Given the description of an element on the screen output the (x, y) to click on. 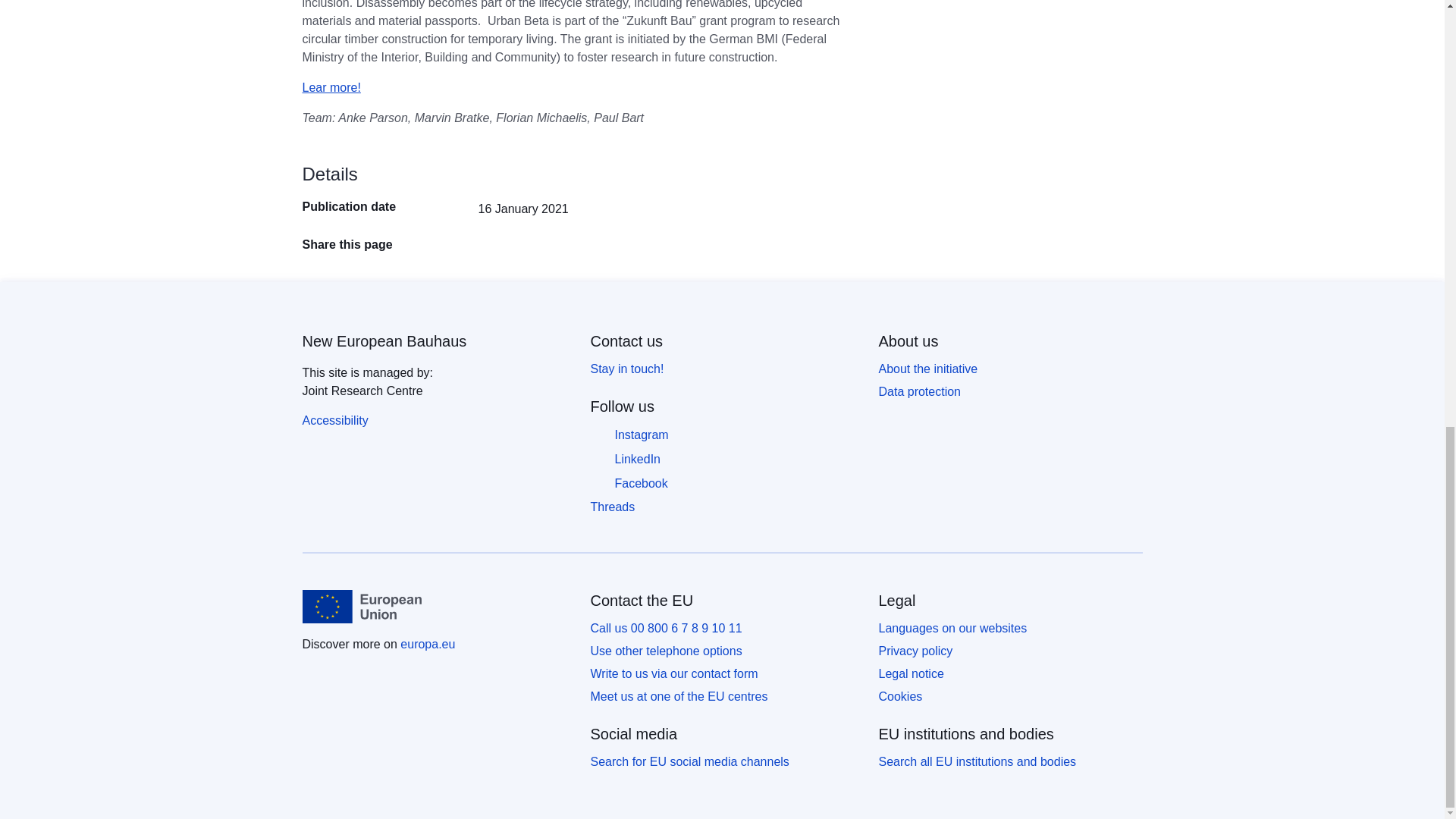
European Union (361, 606)
